Given the description of an element on the screen output the (x, y) to click on. 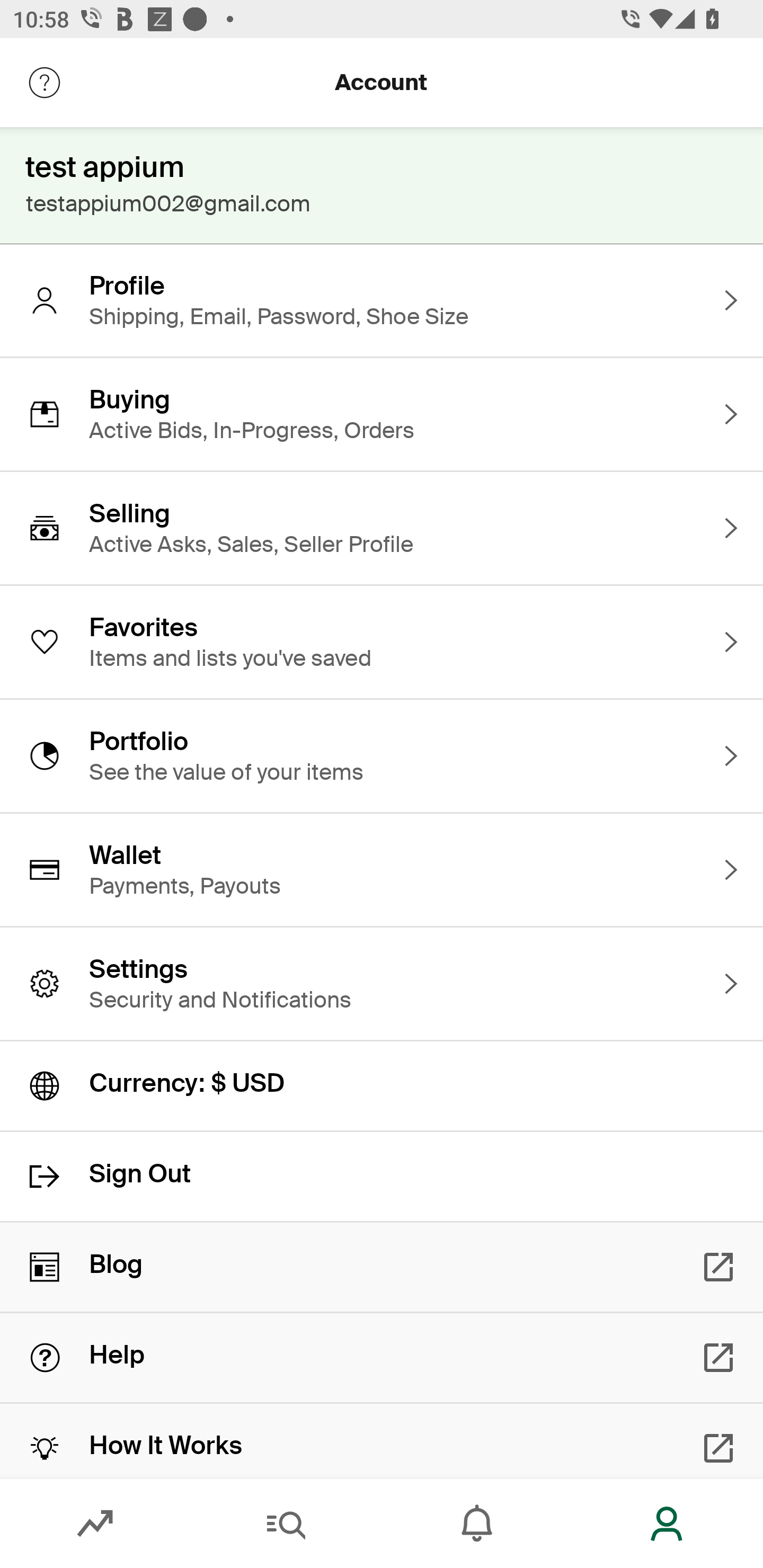
Profile Shipping, Email, Password, Shoe Size (381, 299)
Buying Active Bids, In-Progress, Orders (381, 413)
Selling Active Asks, Sales, Seller Profile (381, 527)
Favorites Items and lists you've saved (381, 641)
Portfolio See the value of your items (381, 755)
Wallet Payments, Payouts (381, 869)
Settings Security and Notifications (381, 983)
Currency: $ USD (381, 1085)
Sign Out (381, 1176)
Blog (381, 1266)
Help (381, 1357)
How It Works (381, 1440)
Market (95, 1523)
Search (285, 1523)
Inbox (476, 1523)
